Given the description of an element on the screen output the (x, y) to click on. 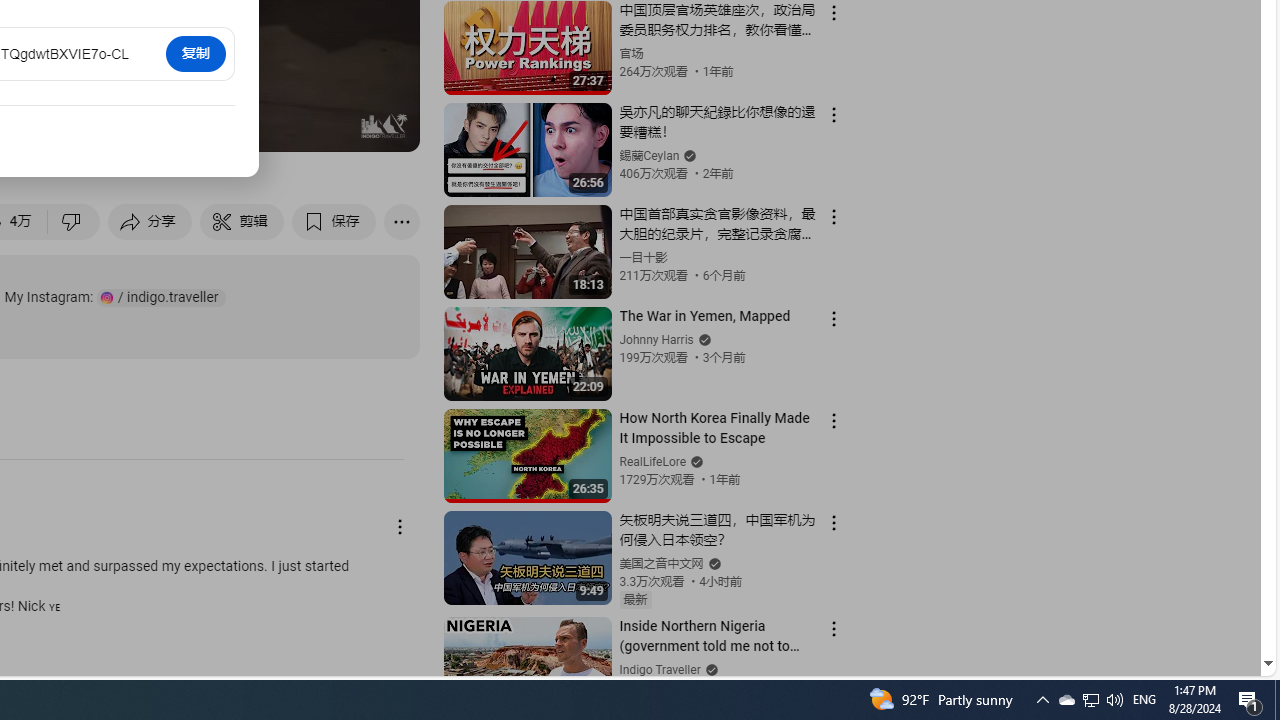
Instagram Channel Link: indigo.traveller (161, 297)
